Given the description of an element on the screen output the (x, y) to click on. 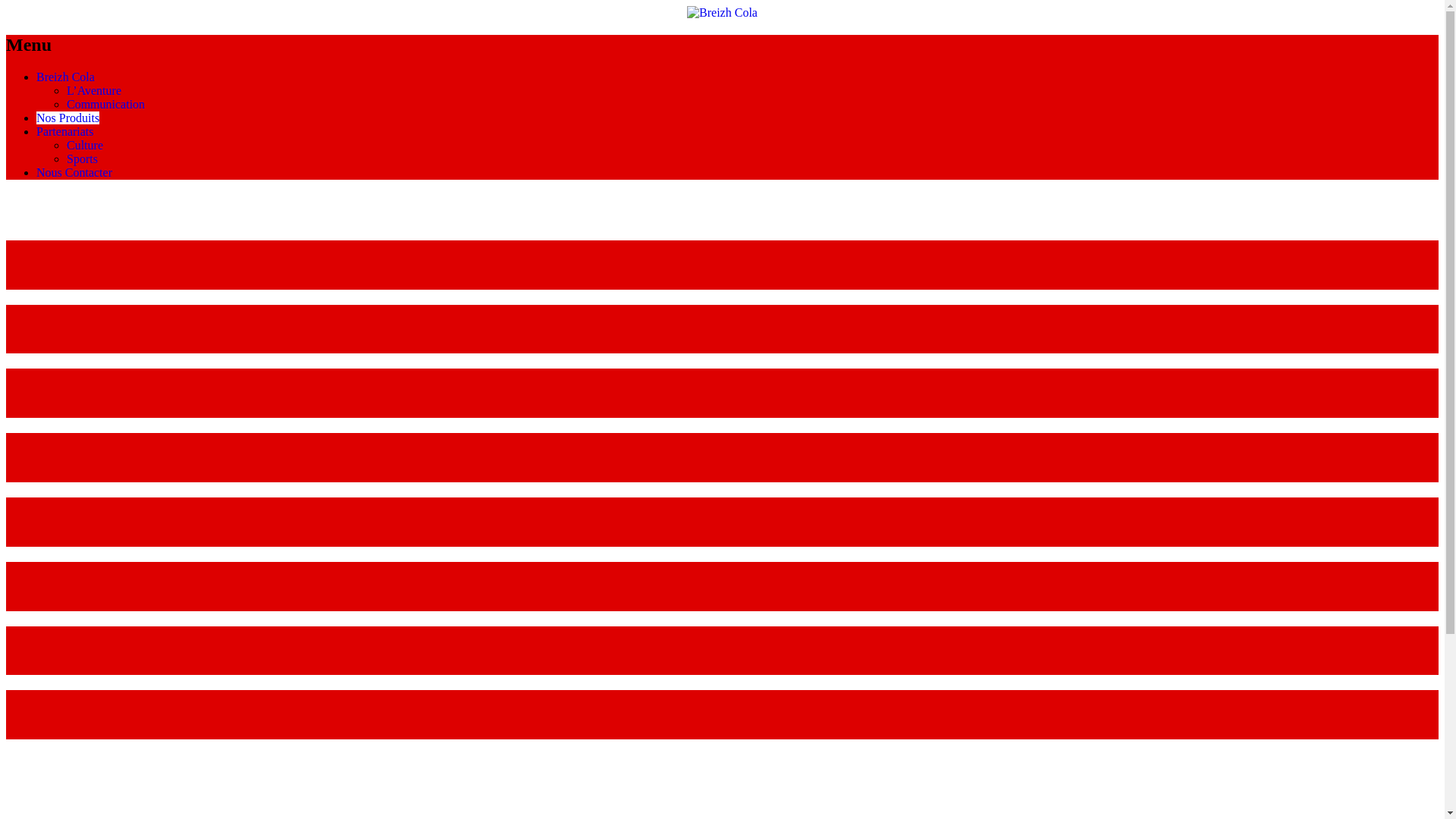
Culture Element type: text (84, 144)
Breizh Cola Element type: text (65, 76)
Nos Produits Element type: text (67, 117)
Partenariats Element type: text (65, 131)
Nous Contacter Element type: text (74, 172)
Sports Element type: text (81, 158)
Communication Element type: text (105, 103)
